Given the description of an element on the screen output the (x, y) to click on. 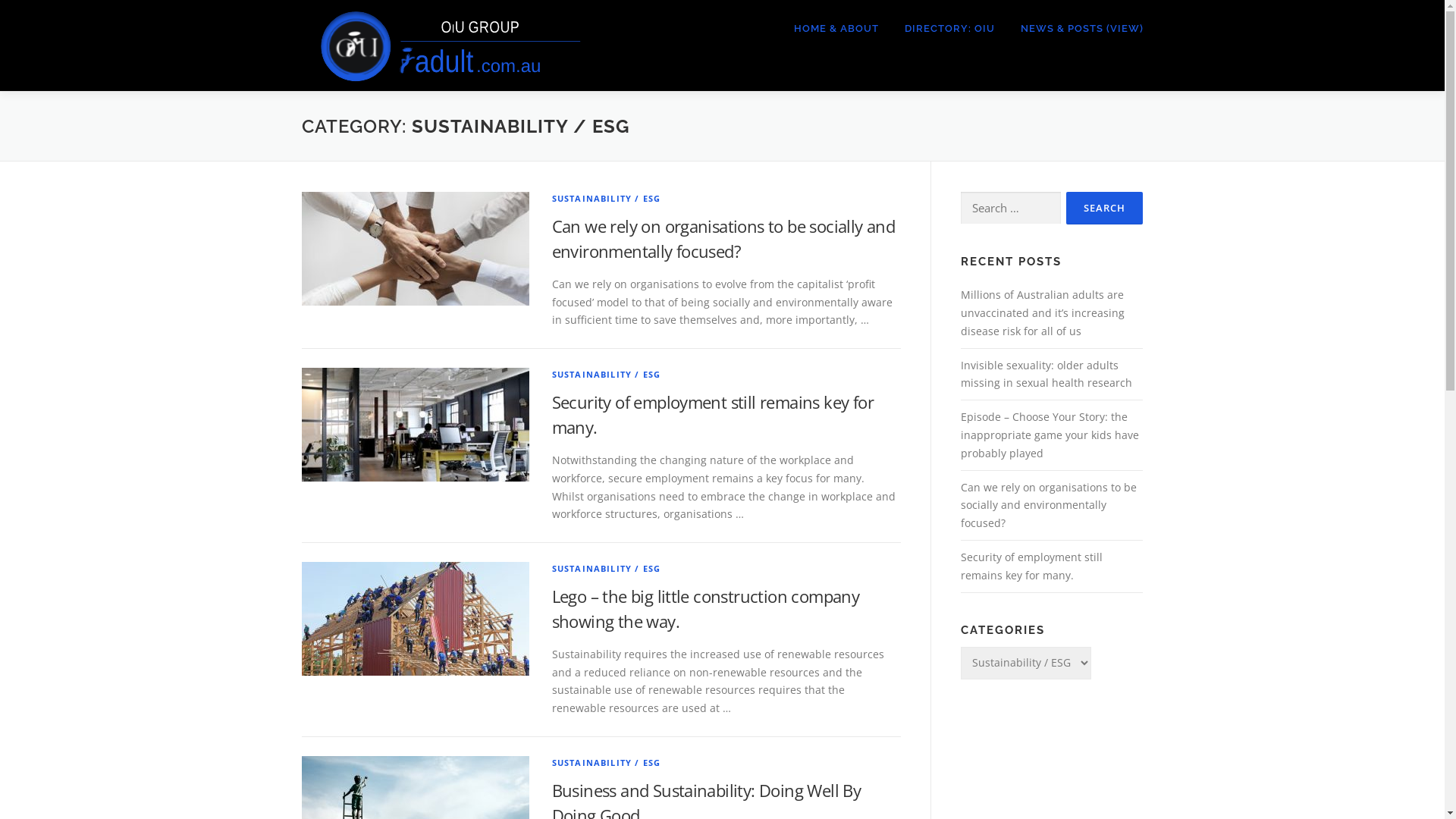
SUSTAINABILITY / ESG Element type: text (606, 568)
SUSTAINABILITY / ESG Element type: text (606, 197)
SUSTAINABILITY / ESG Element type: text (606, 373)
HOME & ABOUT Element type: text (836, 28)
NEWS & POSTS (VIEW) Element type: text (1074, 28)
DIRECTORY: OIU Element type: text (949, 28)
Security of employment still remains key for many. Element type: text (713, 414)
SUSTAINABILITY / ESG Element type: text (606, 762)
Search Element type: text (1104, 207)
Security of employment still remains key for many. Element type: text (1030, 565)
